Given the description of an element on the screen output the (x, y) to click on. 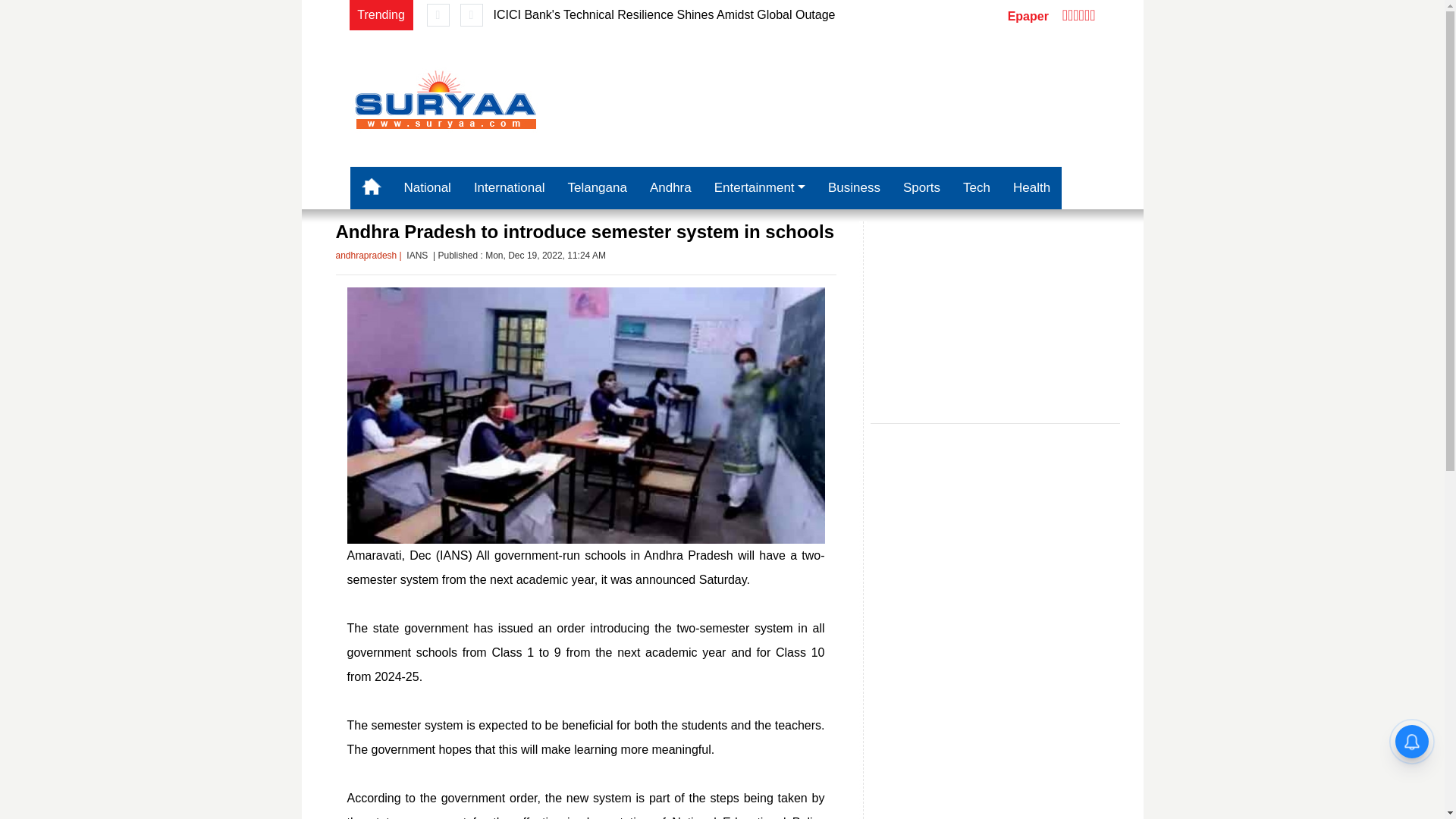
National (428, 188)
Epaper (1027, 15)
Tech (976, 188)
Entertainment (759, 188)
Sports (921, 188)
Telangana (596, 188)
Health (1031, 188)
Andhra (671, 188)
Advertisement (995, 316)
Advertisement (849, 98)
International (509, 188)
Business (853, 188)
